Given the description of an element on the screen output the (x, y) to click on. 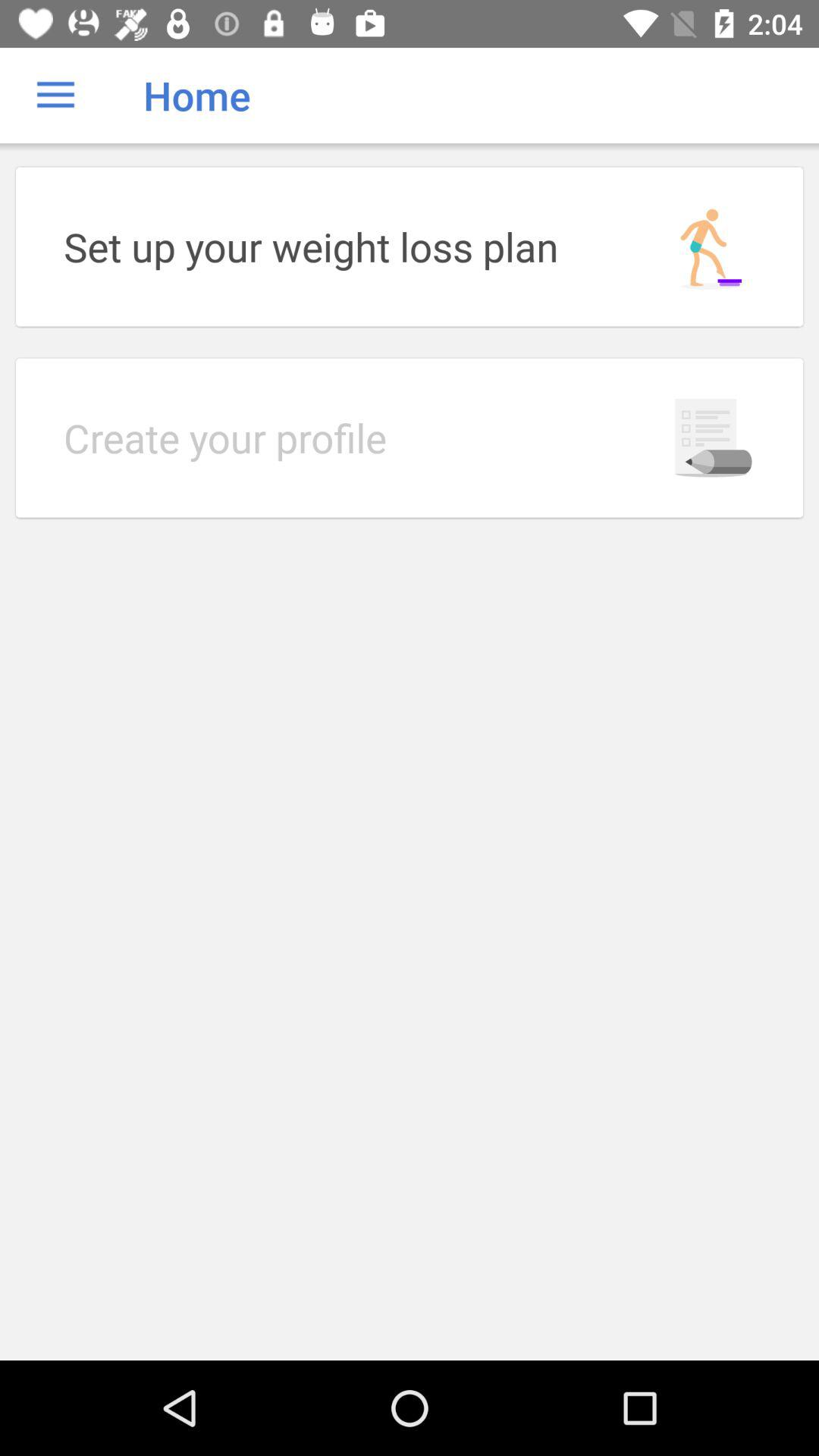
choose icon to the left of the home icon (55, 95)
